Given the description of an element on the screen output the (x, y) to click on. 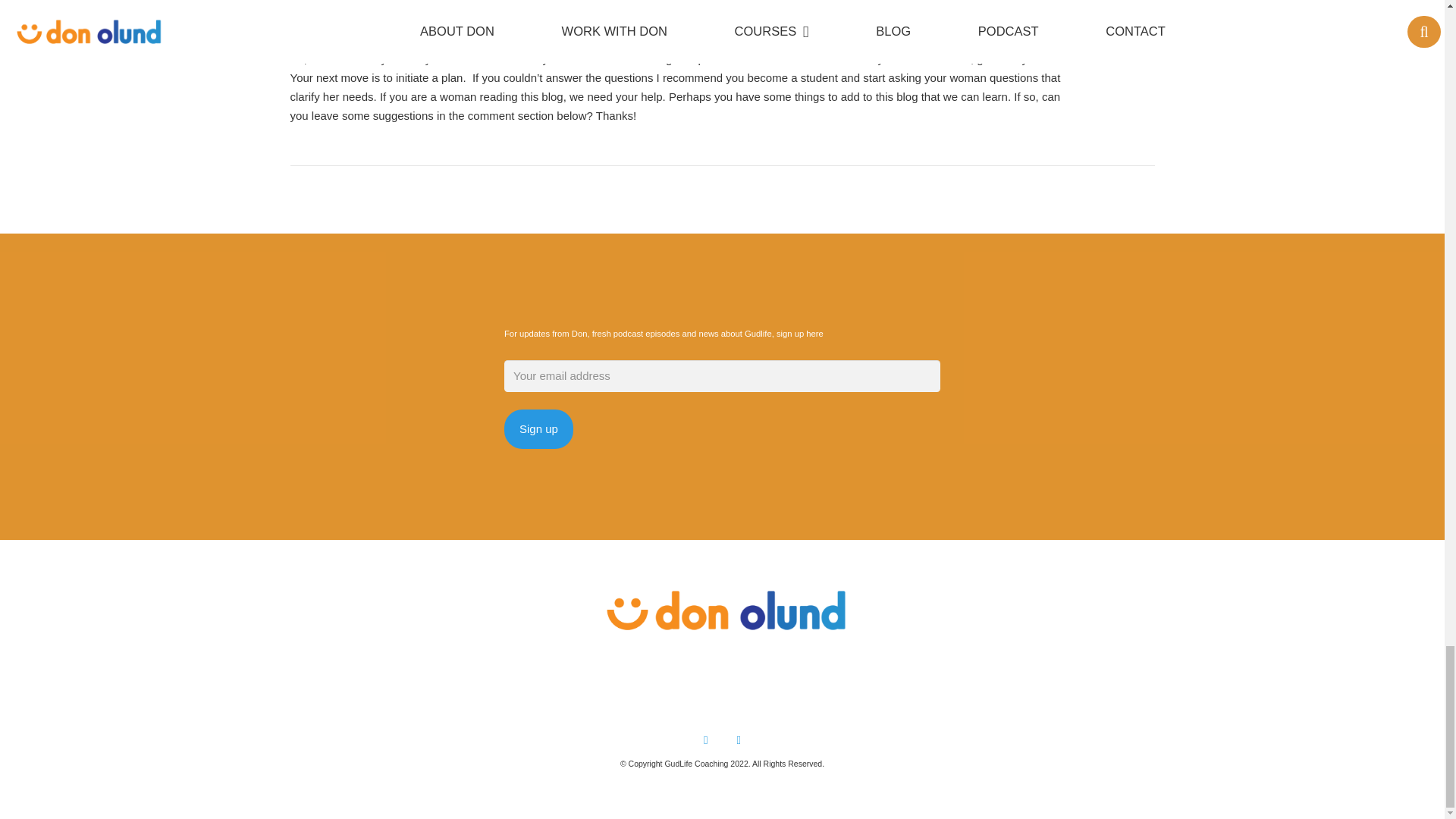
Sign up (538, 428)
Sign up (538, 428)
Facebook (705, 740)
Twitter (739, 740)
